Given the description of an element on the screen output the (x, y) to click on. 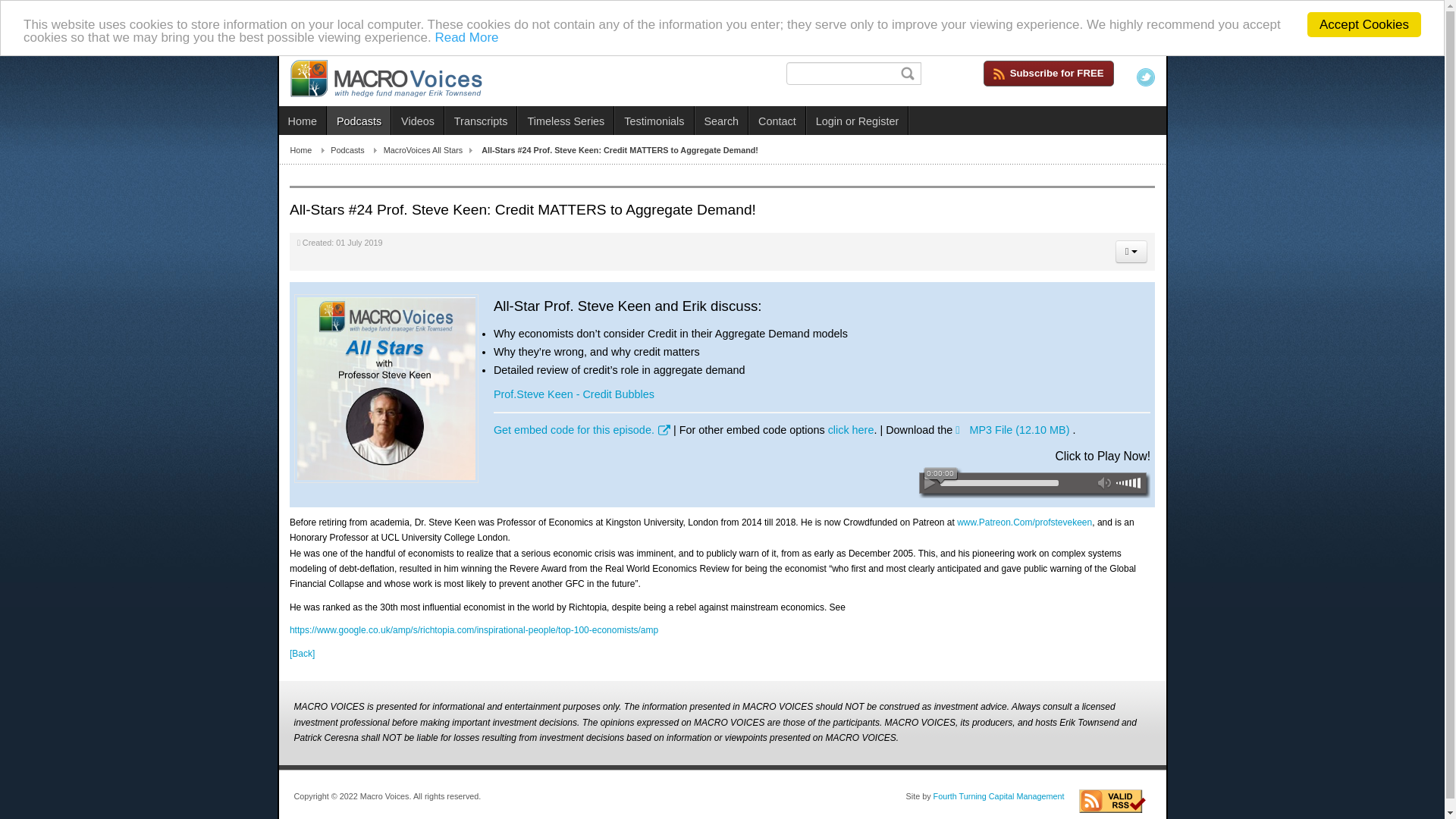
Timeless Series (566, 120)
CreditBubbles.pdf (575, 394)
Twitter (1150, 55)
Get embed code for this episode. (581, 429)
Prof.Steve Keen - Credit Bubbles  (575, 394)
Videos (417, 120)
Login or Register (857, 120)
Search (721, 120)
Testimonials (654, 120)
Subscribe for FREE (1053, 48)
Home (309, 150)
Transcripts (481, 120)
click here (851, 429)
Twitter (1144, 76)
MacroVoices All Stars (432, 150)
